Given the description of an element on the screen output the (x, y) to click on. 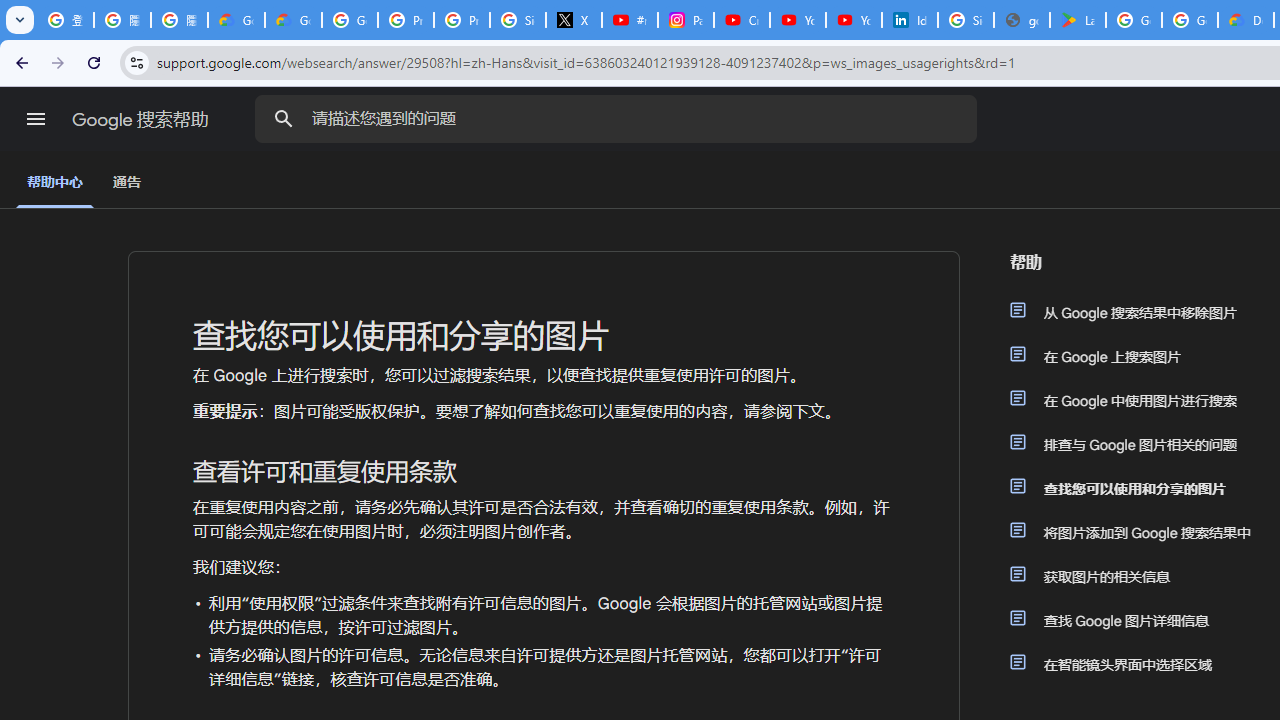
Sign in - Google Accounts (966, 20)
#nbabasketballhighlights - YouTube (629, 20)
Google Workspace - Specific Terms (1190, 20)
View site information (136, 62)
Forward (57, 62)
Google Cloud Privacy Notice (235, 20)
Google Cloud Privacy Notice (293, 20)
Reload (93, 62)
